Given the description of an element on the screen output the (x, y) to click on. 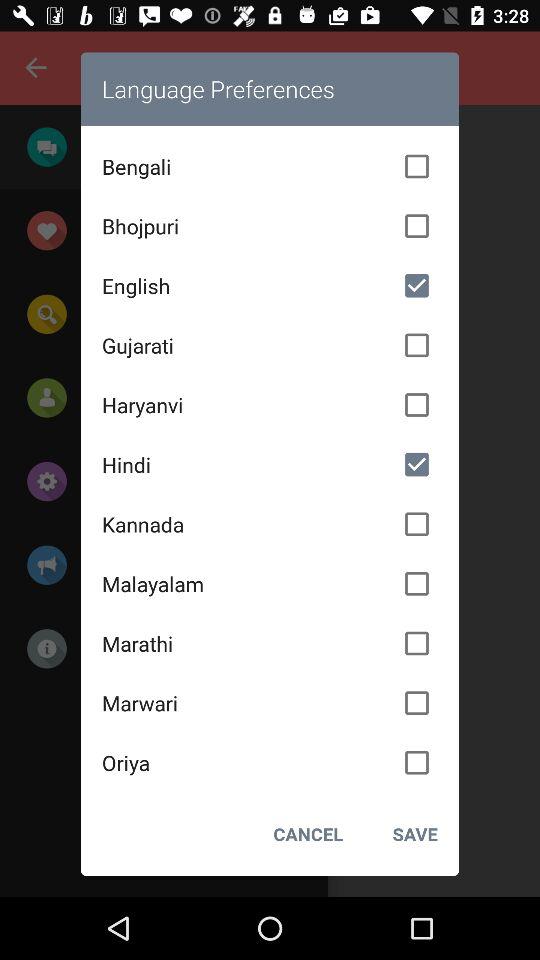
choose cancel item (307, 833)
